Given the description of an element on the screen output the (x, y) to click on. 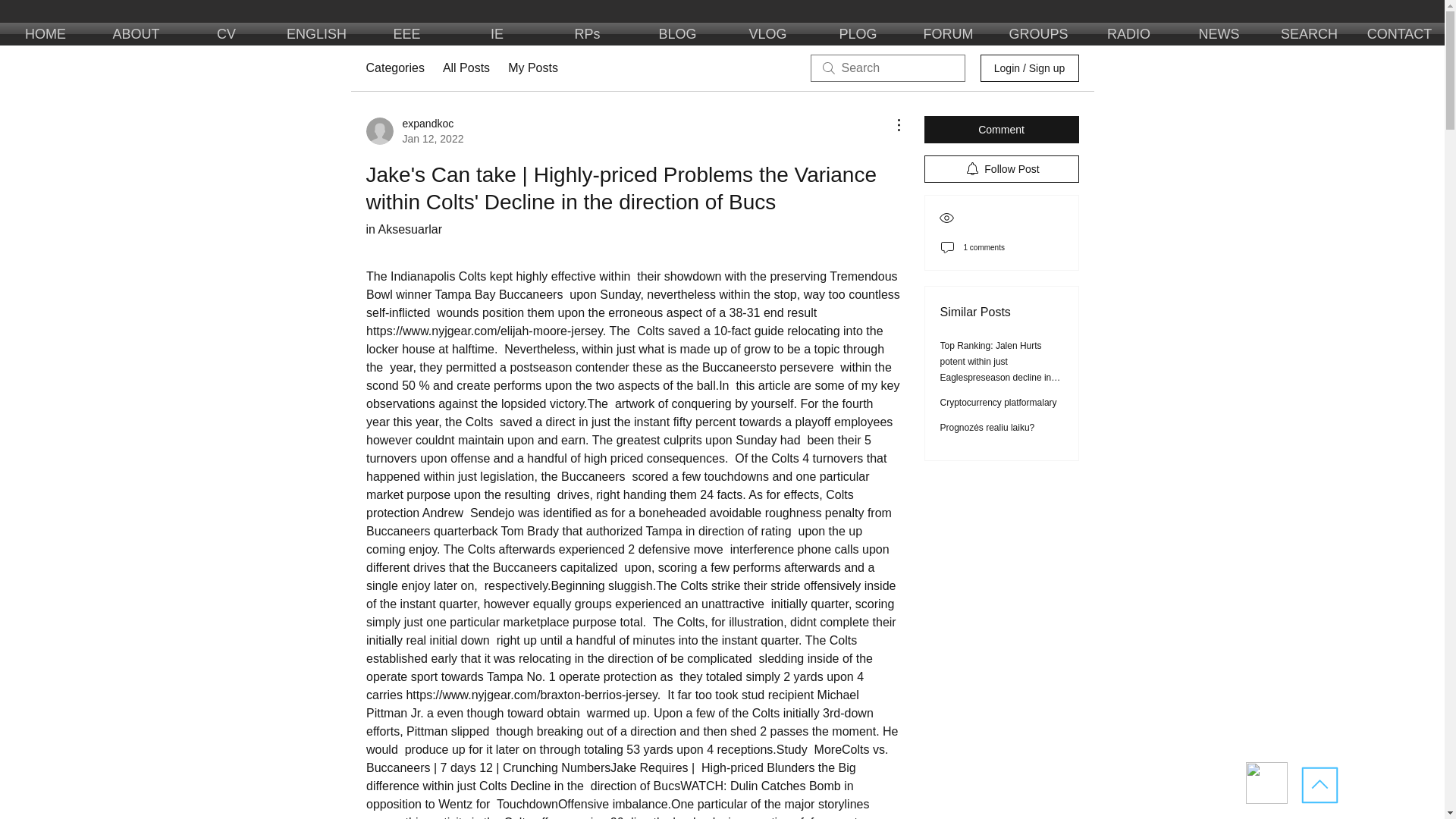
CV (225, 33)
ENGLISH (315, 33)
IE (496, 33)
HOME (45, 33)
EEE (406, 33)
RPs (586, 33)
BLOG (676, 33)
ABOUT (135, 33)
